Given the description of an element on the screen output the (x, y) to click on. 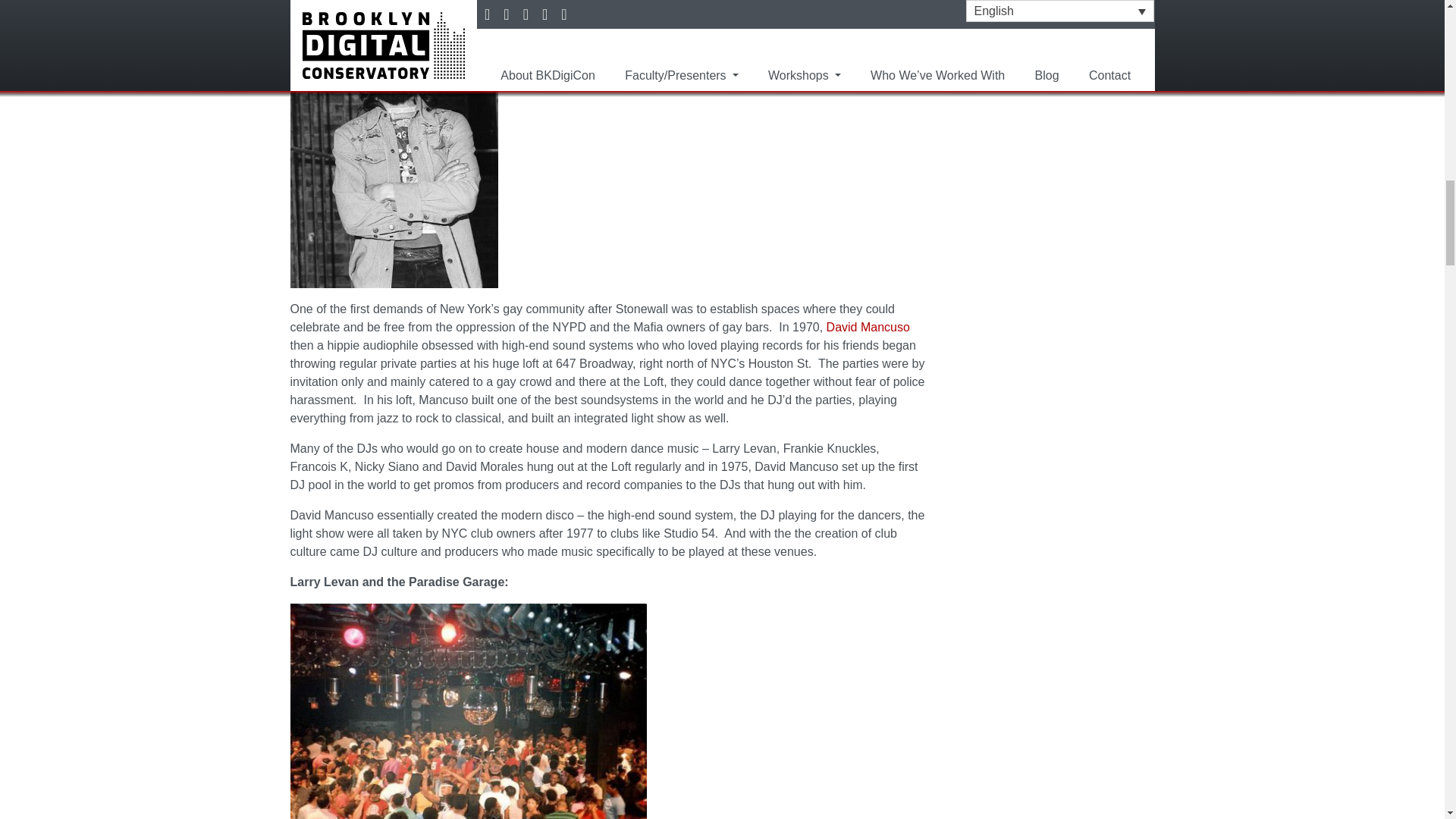
David Mancuso (868, 327)
